Given the description of an element on the screen output the (x, y) to click on. 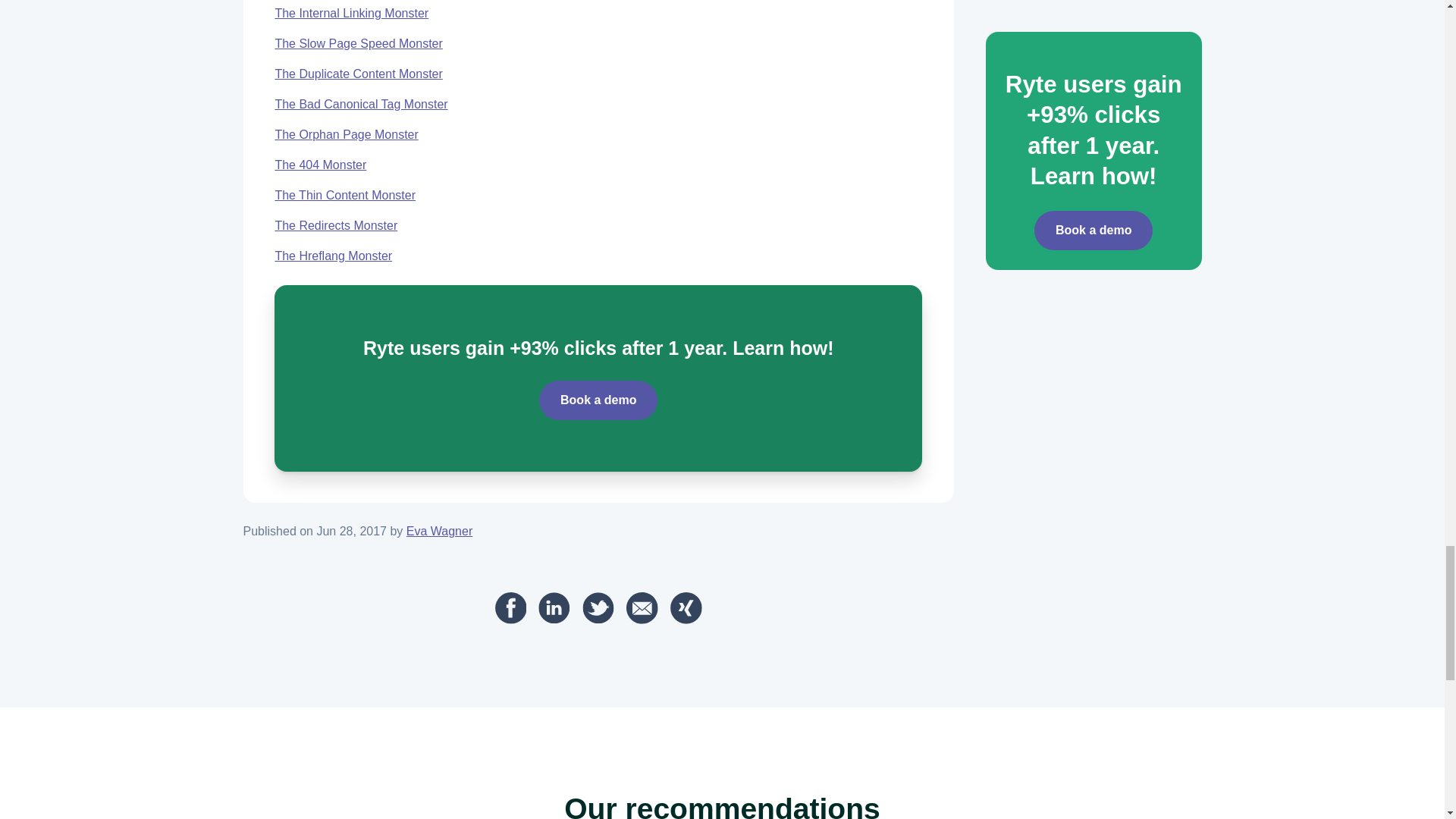
facebook (511, 608)
email (642, 608)
The Redirects Monster (336, 225)
Eva Wagner (438, 530)
The 404 Monster (320, 164)
Book a demo (598, 400)
The Thin Content Monster (344, 195)
The Bad Canonical Tag Monster (360, 103)
xing (685, 608)
The Hreflang Monster (333, 255)
The Slow Page Speed Monster (358, 42)
The Internal Linking Monster (351, 12)
twitter (598, 608)
linkedin (554, 608)
The Orphan Page Monster (346, 133)
